Given the description of an element on the screen output the (x, y) to click on. 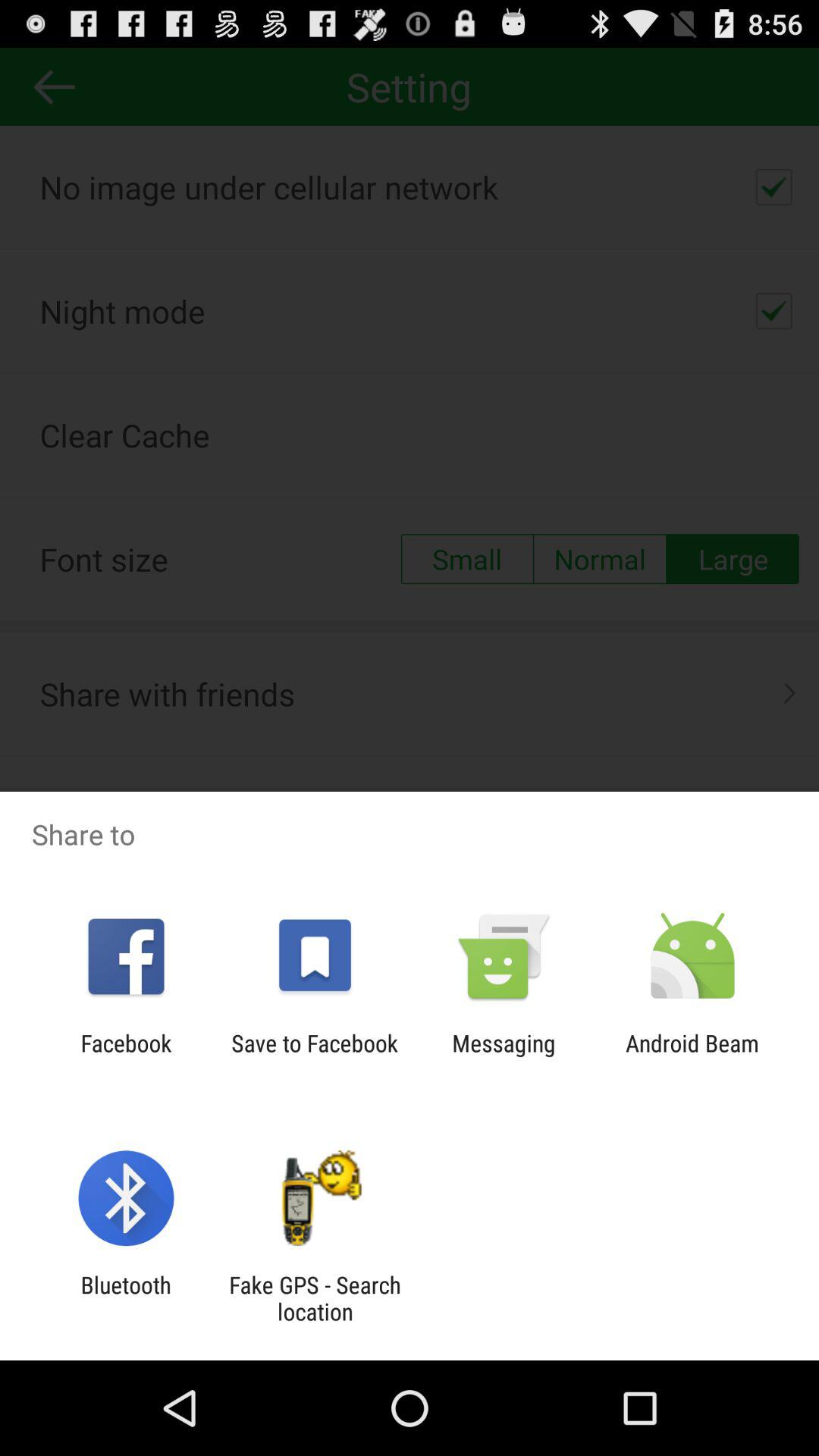
tap the app to the right of the save to facebook (503, 1056)
